Given the description of an element on the screen output the (x, y) to click on. 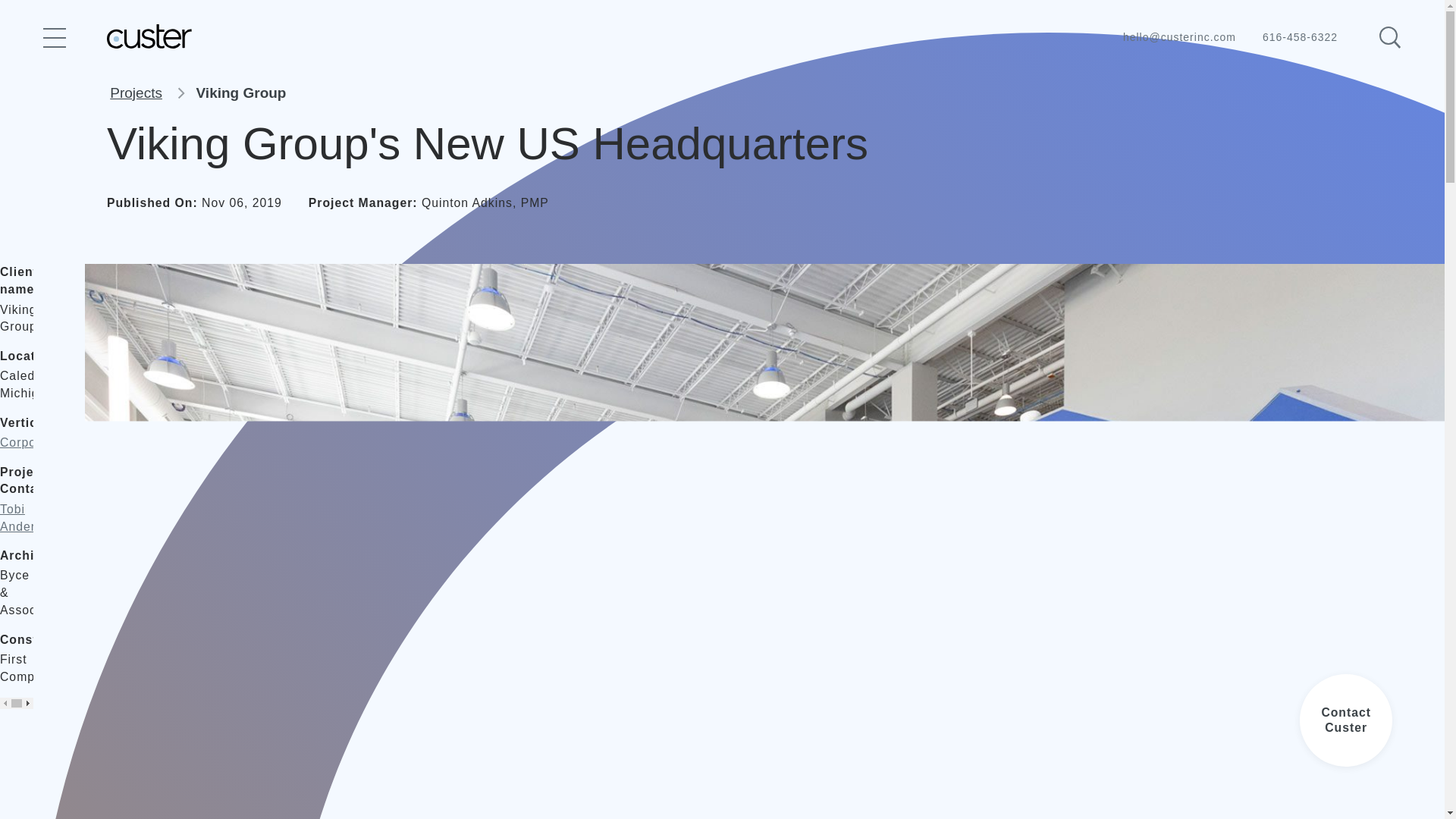
Tobi Anderson (28, 518)
616-458-6322 (1287, 37)
Corporate (29, 443)
Projects (135, 92)
